Given the description of an element on the screen output the (x, y) to click on. 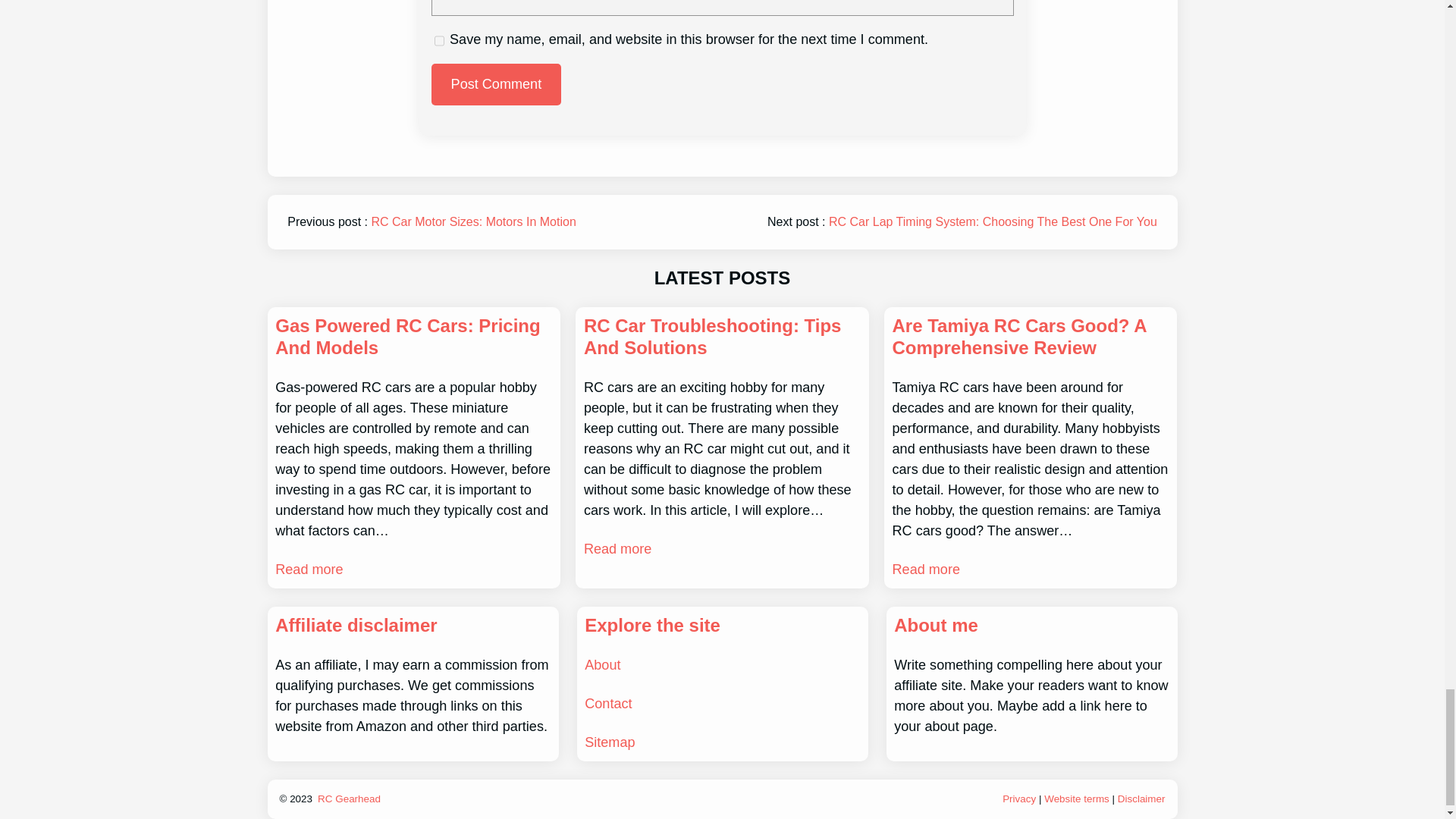
RC Car Motor Sizes: Motors In Motion (473, 221)
Post Comment (495, 84)
RC Gearhead (348, 798)
Sitemap (609, 742)
Post Comment (495, 84)
Read more (308, 569)
RC Car Lap Timing System: Choosing The Best One For You (992, 221)
Gas Powered RC Cars: Pricing And Models (413, 337)
Contact (608, 703)
Disclaimer (1142, 798)
Privacy (1019, 798)
RC Car Troubleshooting: Tips And Solutions (721, 337)
Website terms (1076, 798)
Read more (925, 569)
About (602, 664)
